Given the description of an element on the screen output the (x, y) to click on. 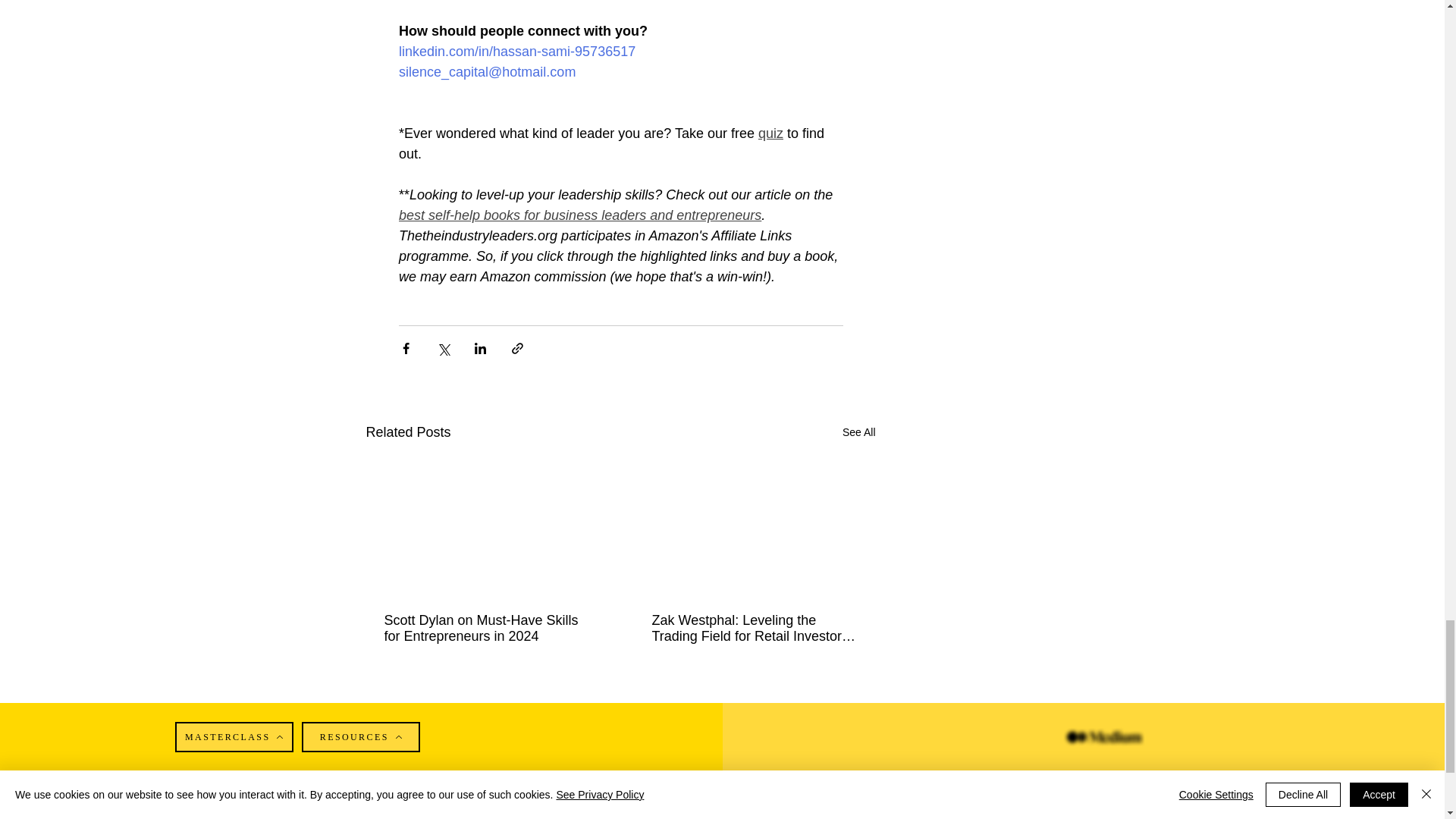
quiz (770, 133)
Get Quoted (239, 815)
best self-help books for business leaders and entrepreneurs (579, 215)
Scott Dylan on Must-Have Skills for Entrepreneurs in 2024 (486, 628)
See All (859, 432)
